Given the description of an element on the screen output the (x, y) to click on. 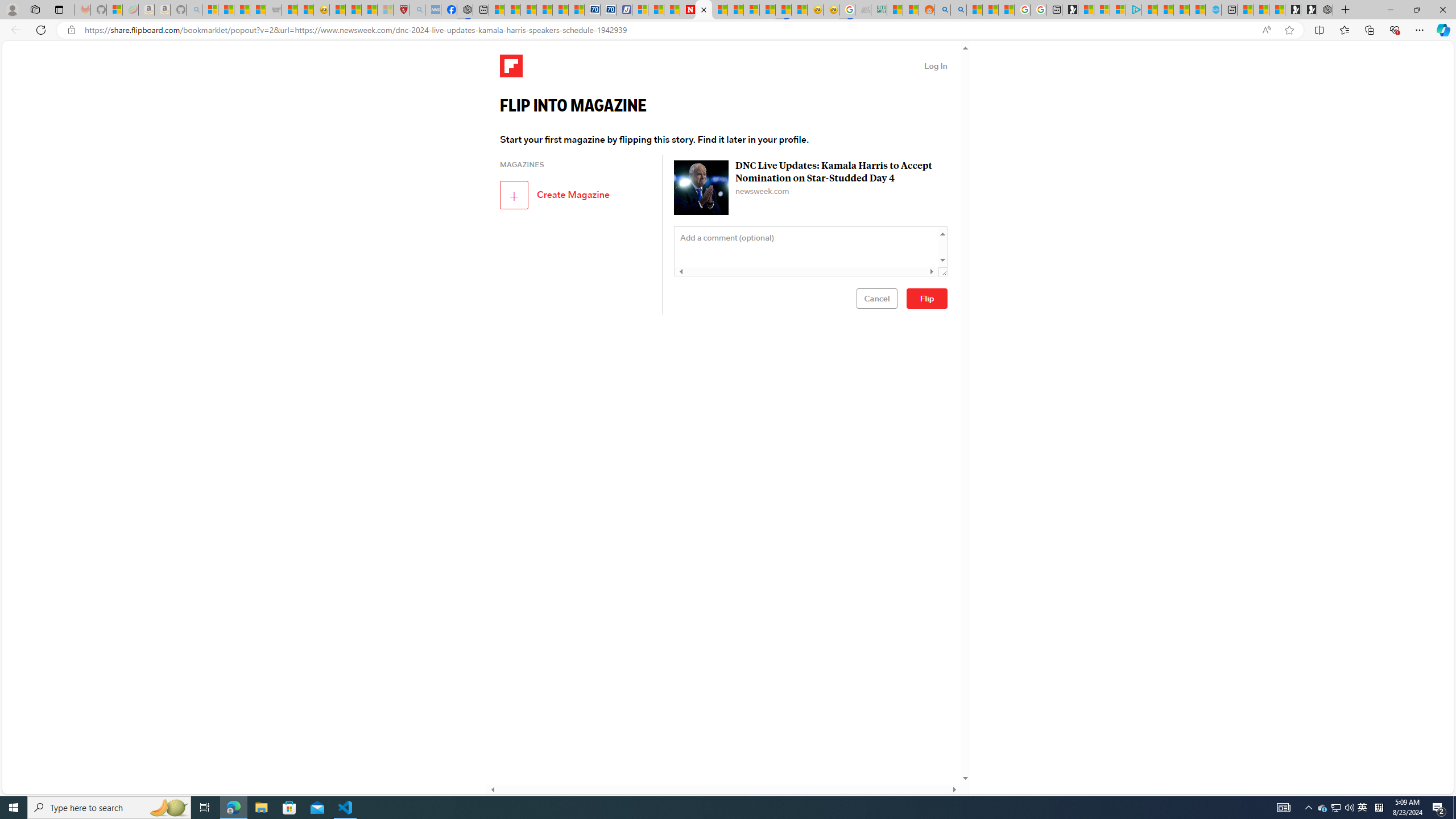
list of asthma inhalers uk - Search - Sleeping (416, 9)
Recipes - MSN (337, 9)
12 Popular Science Lies that Must be Corrected - Sleeping (384, 9)
Flip (927, 298)
Newsweek - News, Analysis, Politics, Business, Technology (687, 9)
Stocks - MSN (257, 9)
